Given the description of an element on the screen output the (x, y) to click on. 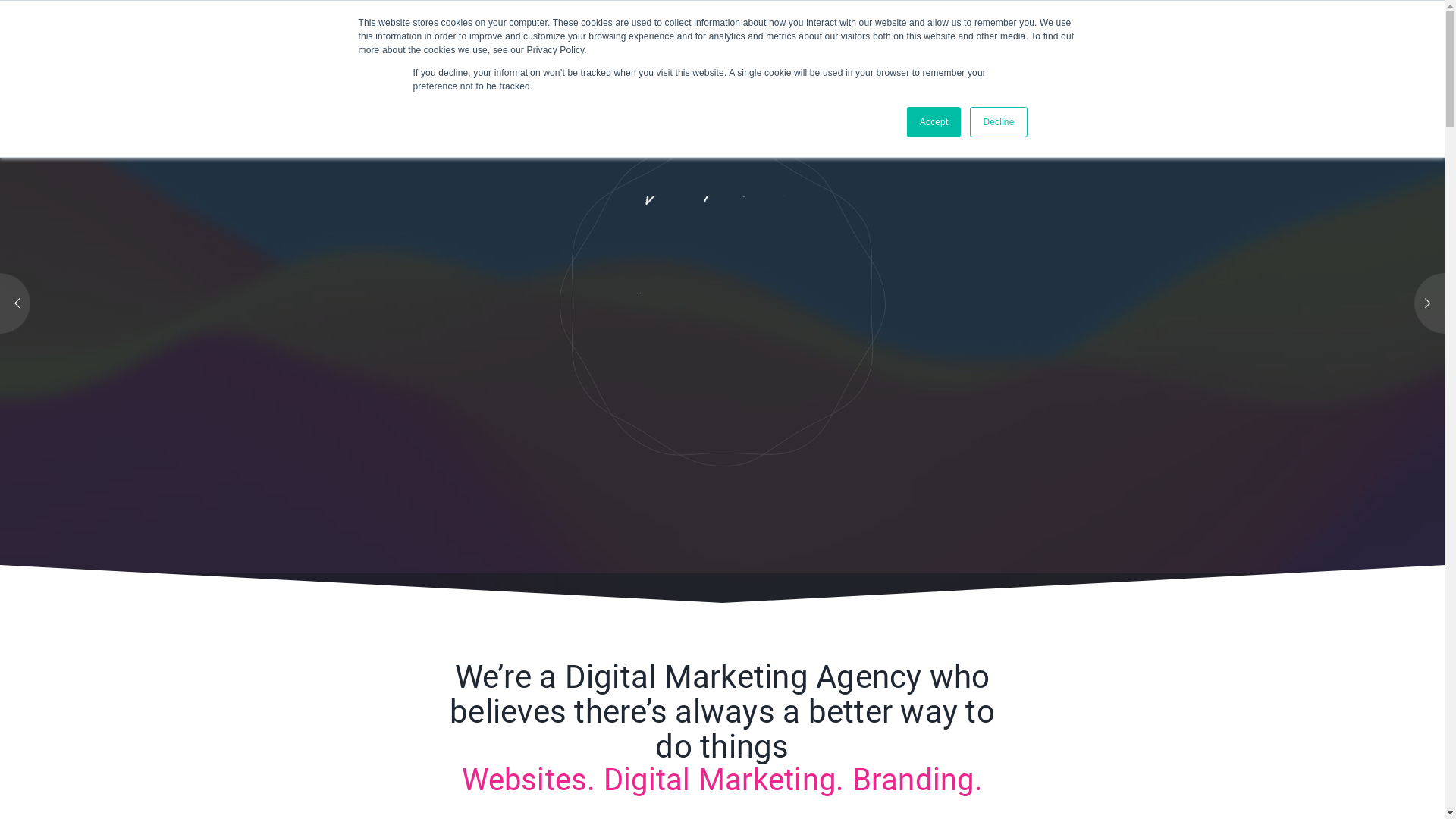
TIPS Element type: text (908, 48)
1300 73 83 89 Element type: text (1325, 19)
PROJECTS Element type: text (806, 48)
Decline Element type: text (997, 121)
HOME Element type: text (482, 48)
SOLUTIONS Element type: text (686, 48)
ABOUT Element type: text (575, 48)
CONTACT Element type: text (1003, 47)
Accept Element type: text (933, 121)
